Given the description of an element on the screen output the (x, y) to click on. 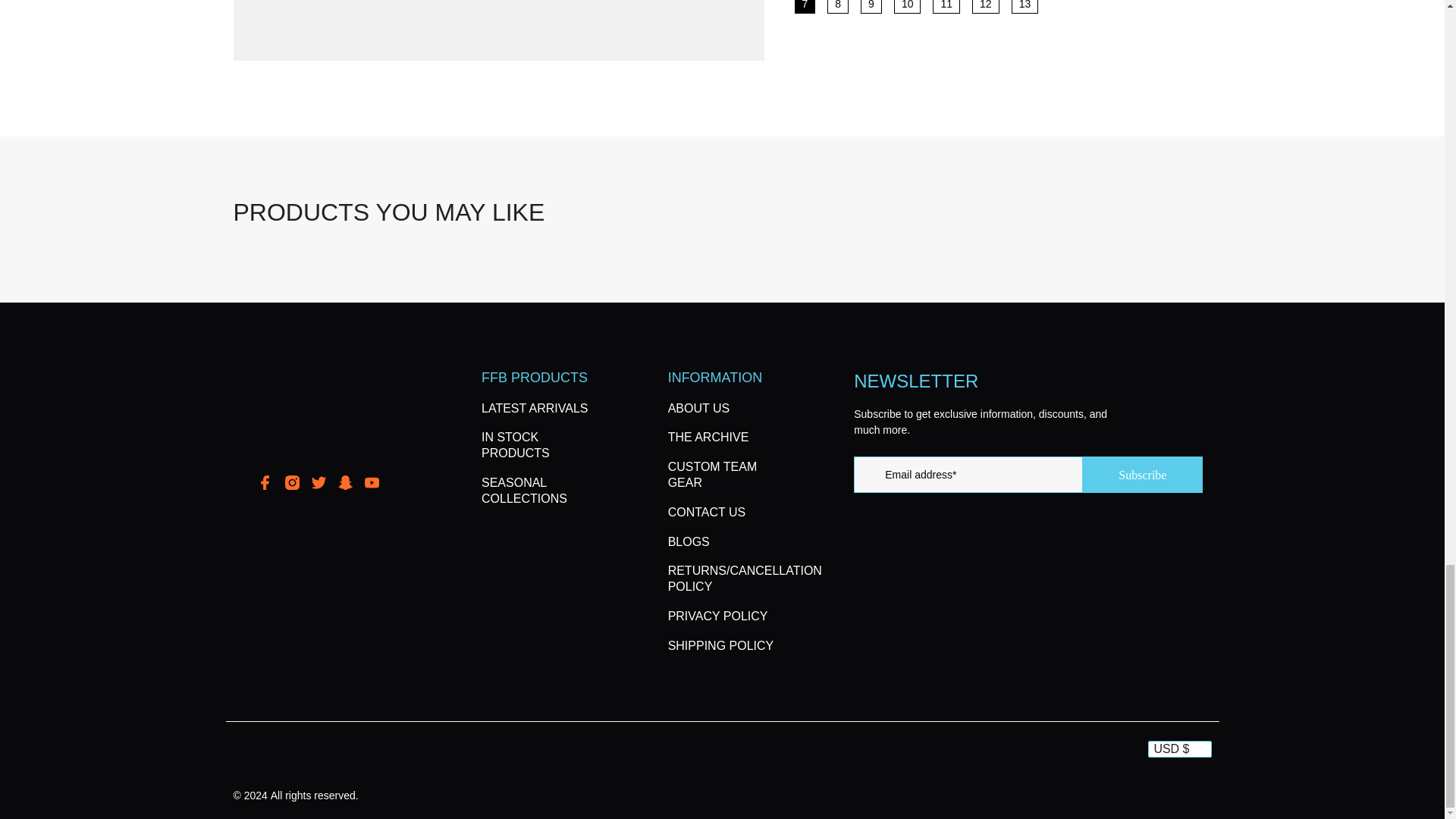
Funky Flickr Boyz Gear on Twitter (318, 485)
Funky Flickr Boyz Gear on Instagram (292, 485)
Funky Flickr Boyz Gear (318, 414)
Funky Flickr Boyz Gear on Facebook (264, 485)
